Given the description of an element on the screen output the (x, y) to click on. 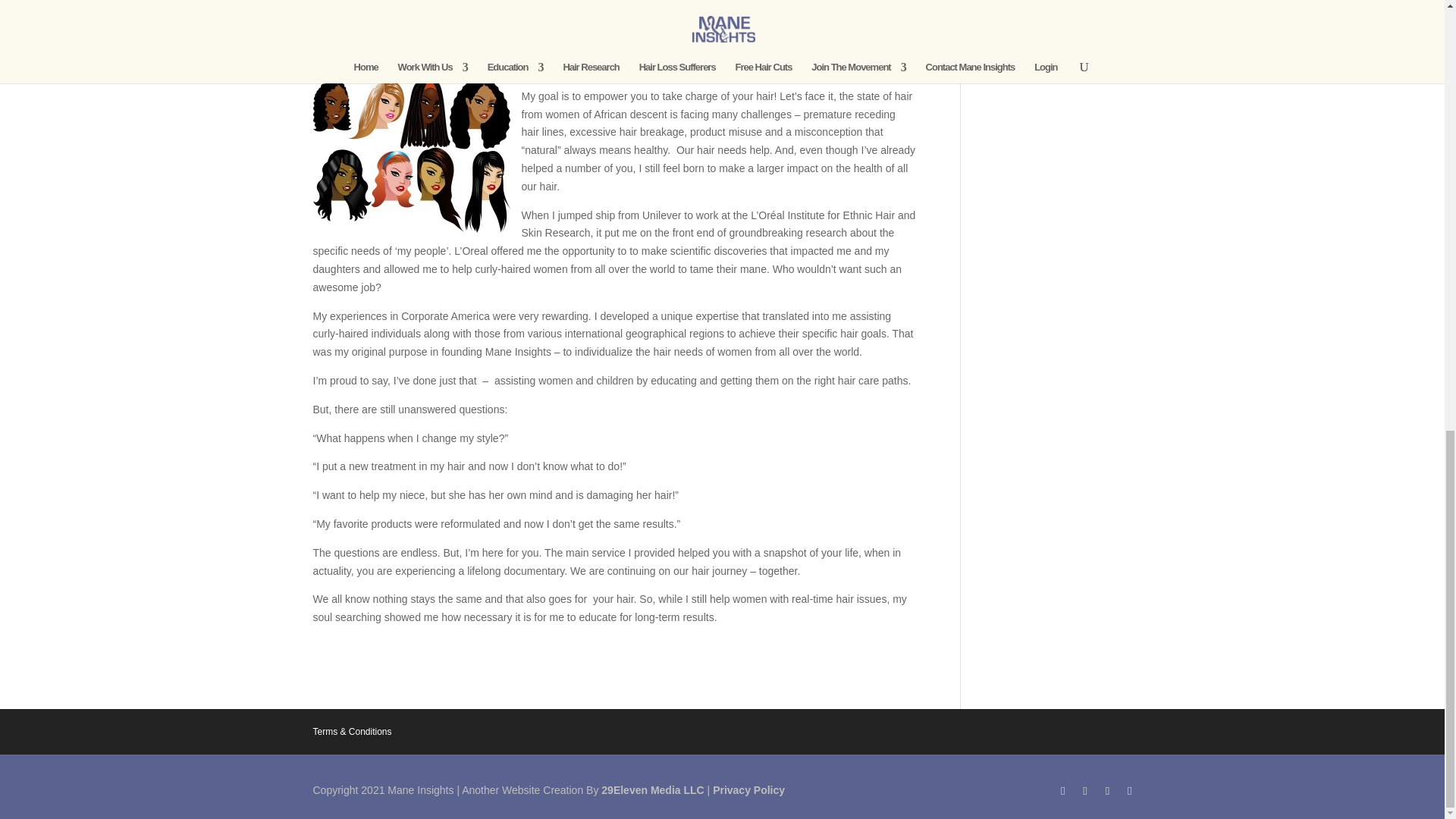
29Eleven Media LLC (652, 789)
Privacy Policy (748, 789)
